Given the description of an element on the screen output the (x, y) to click on. 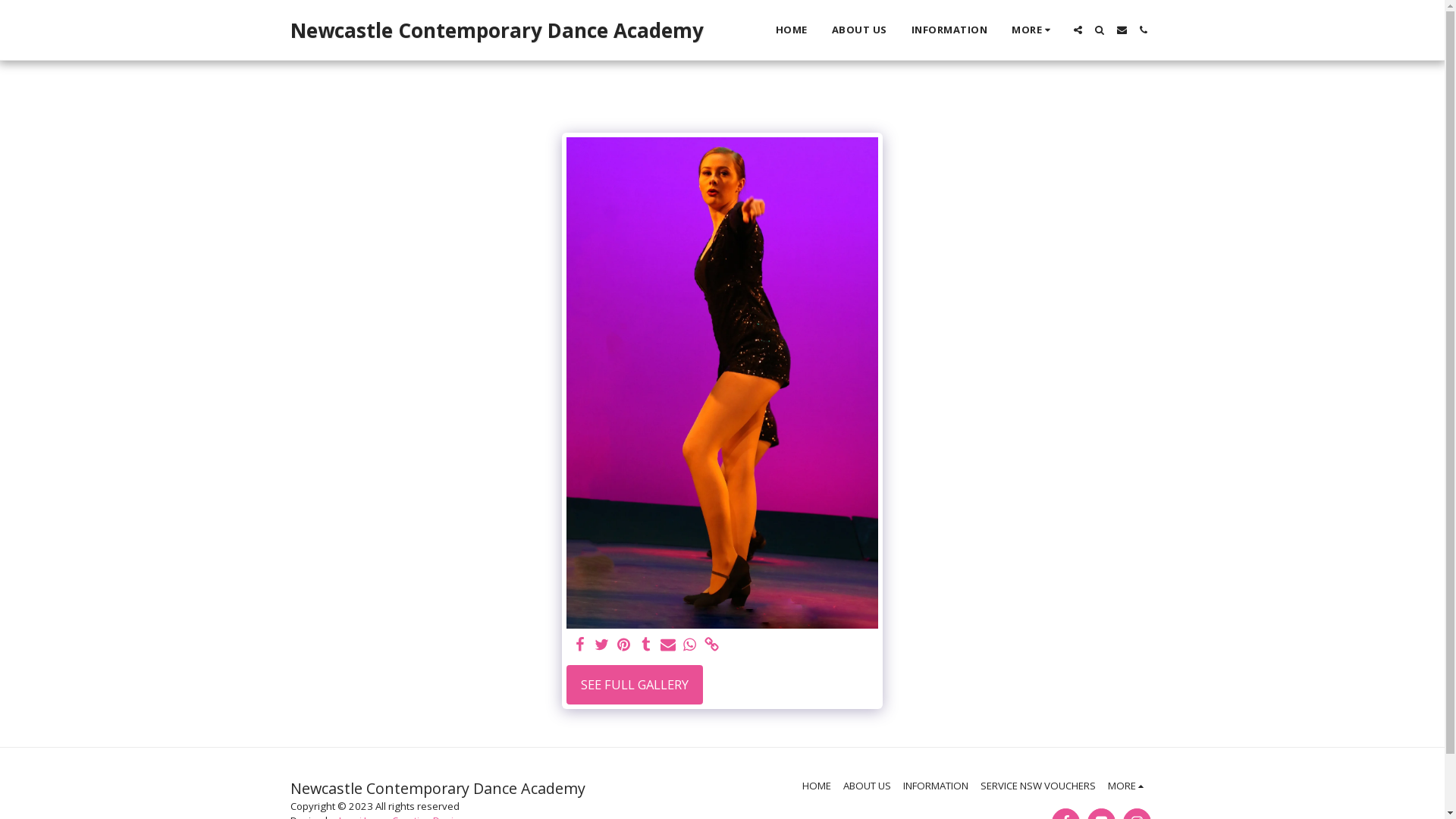
  Element type: text (1121, 29)
Tweet Element type: hover (602, 645)
INFORMATION Element type: text (948, 29)
ABOUT US Element type: text (859, 29)
MORE   Element type: text (1033, 29)
  Element type: text (580, 645)
  Element type: text (624, 645)
link Element type: hover (711, 645)
ABOUT US Element type: text (867, 785)
tumblr Element type: hover (645, 645)
SERVICE NSW VOUCHERS Element type: text (1037, 785)
HOME Element type: text (791, 29)
INFORMATION Element type: text (935, 785)
MORE   Element type: text (1127, 785)
HOME Element type: text (816, 785)
whatsapp Element type: hover (689, 645)
Pin it Element type: hover (624, 645)
Share by Email Element type: hover (667, 645)
  Element type: text (689, 645)
  Element type: text (711, 645)
  Element type: text (602, 645)
  Element type: text (1142, 29)
  Element type: text (645, 645)
  Element type: text (667, 645)
  Element type: text (1098, 29)
Share on Facebook Element type: hover (580, 645)
SEE FULL GALLERY Element type: text (634, 684)
Newcastle Contemporary Dance Academy Element type: text (495, 30)
  Element type: text (1077, 29)
